Given the description of an element on the screen output the (x, y) to click on. 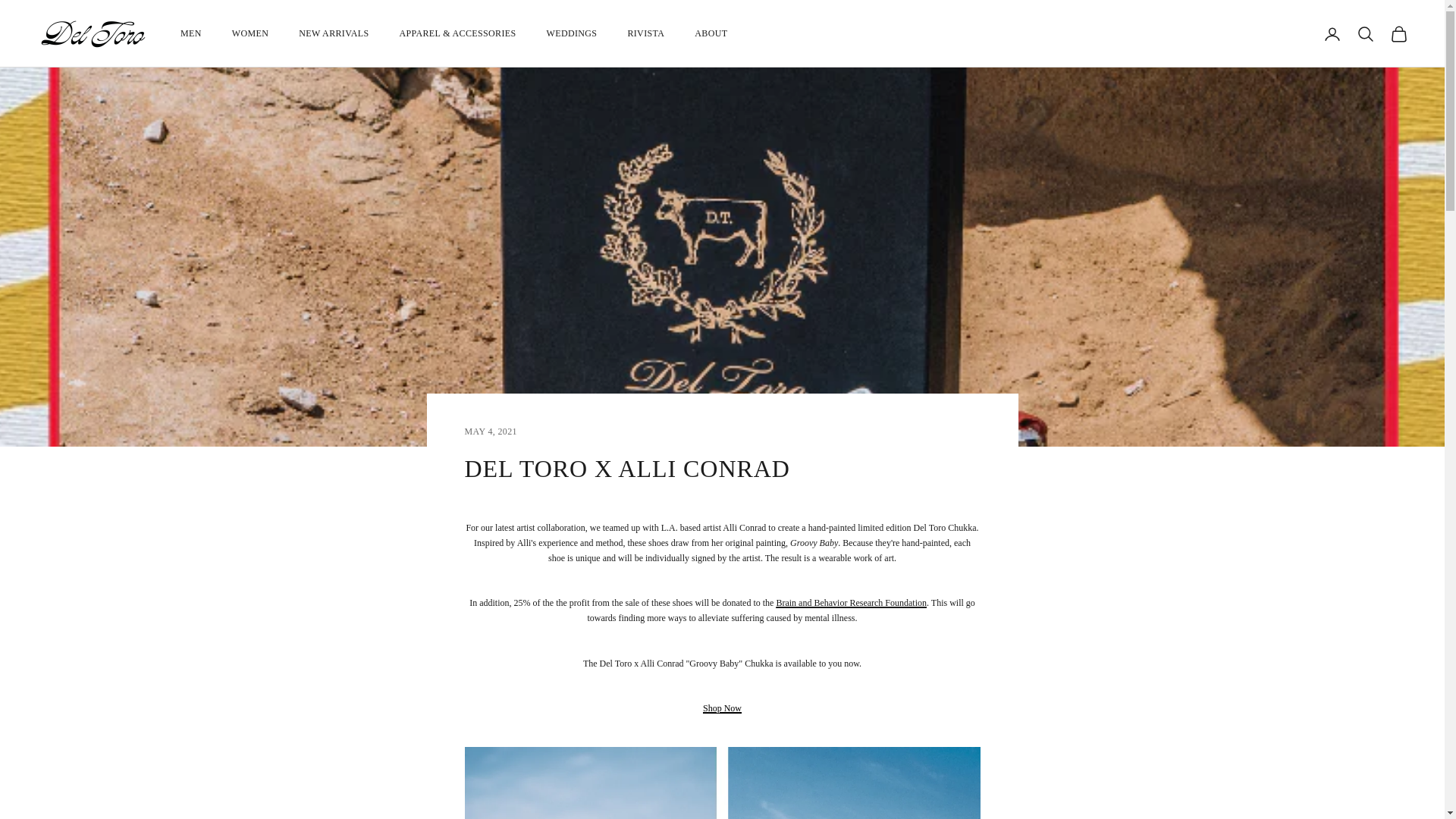
Del Toro Shoes (92, 33)
